Given the description of an element on the screen output the (x, y) to click on. 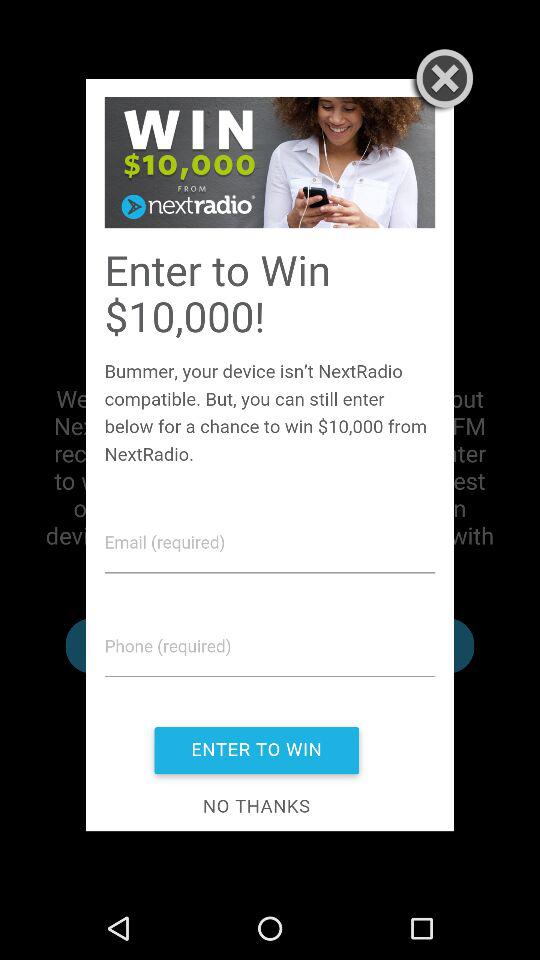
pop up offer (269, 454)
